Given the description of an element on the screen output the (x, y) to click on. 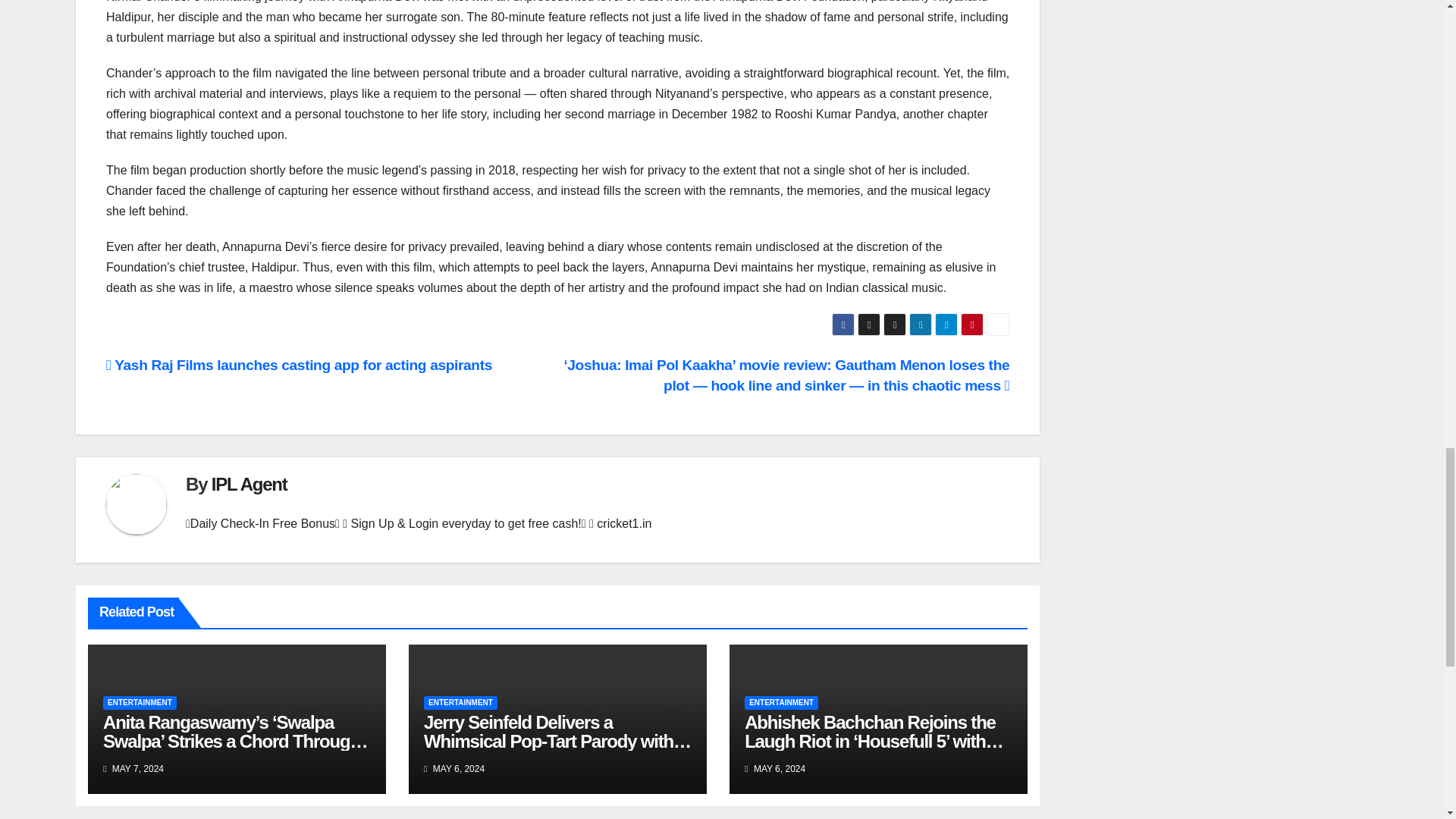
IPL Agent (248, 484)
Yash Raj Films launches casting app for acting aspirants (299, 365)
